Given the description of an element on the screen output the (x, y) to click on. 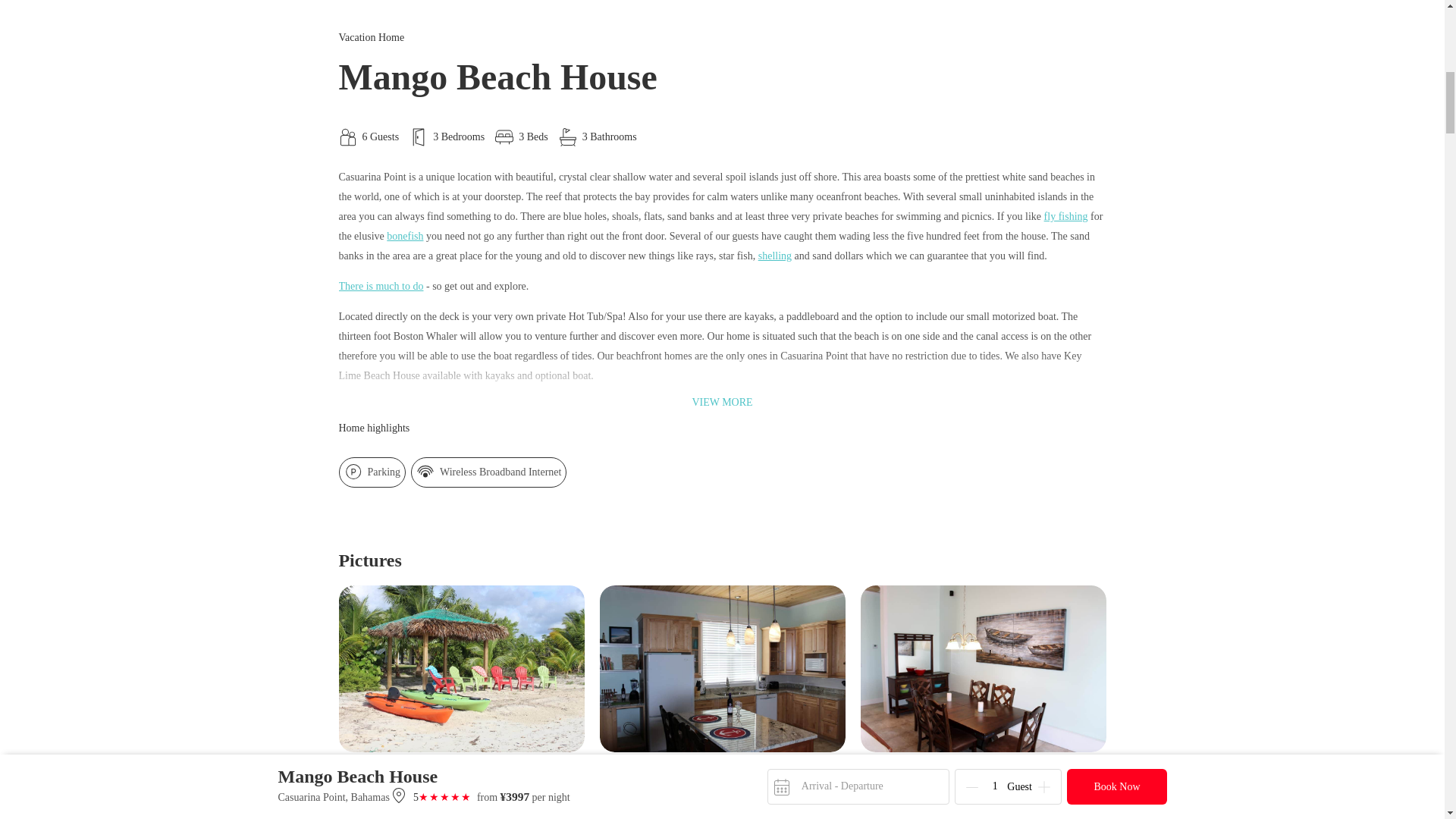
Grill on the Covered Deck (721, 801)
Fully Equipped Kitchen (721, 668)
Mango Living Room 1 (460, 801)
Dining and View fromthe Covered Deck (982, 801)
Dining Rooom (982, 668)
The Cabana (460, 668)
